Given the description of an element on the screen output the (x, y) to click on. 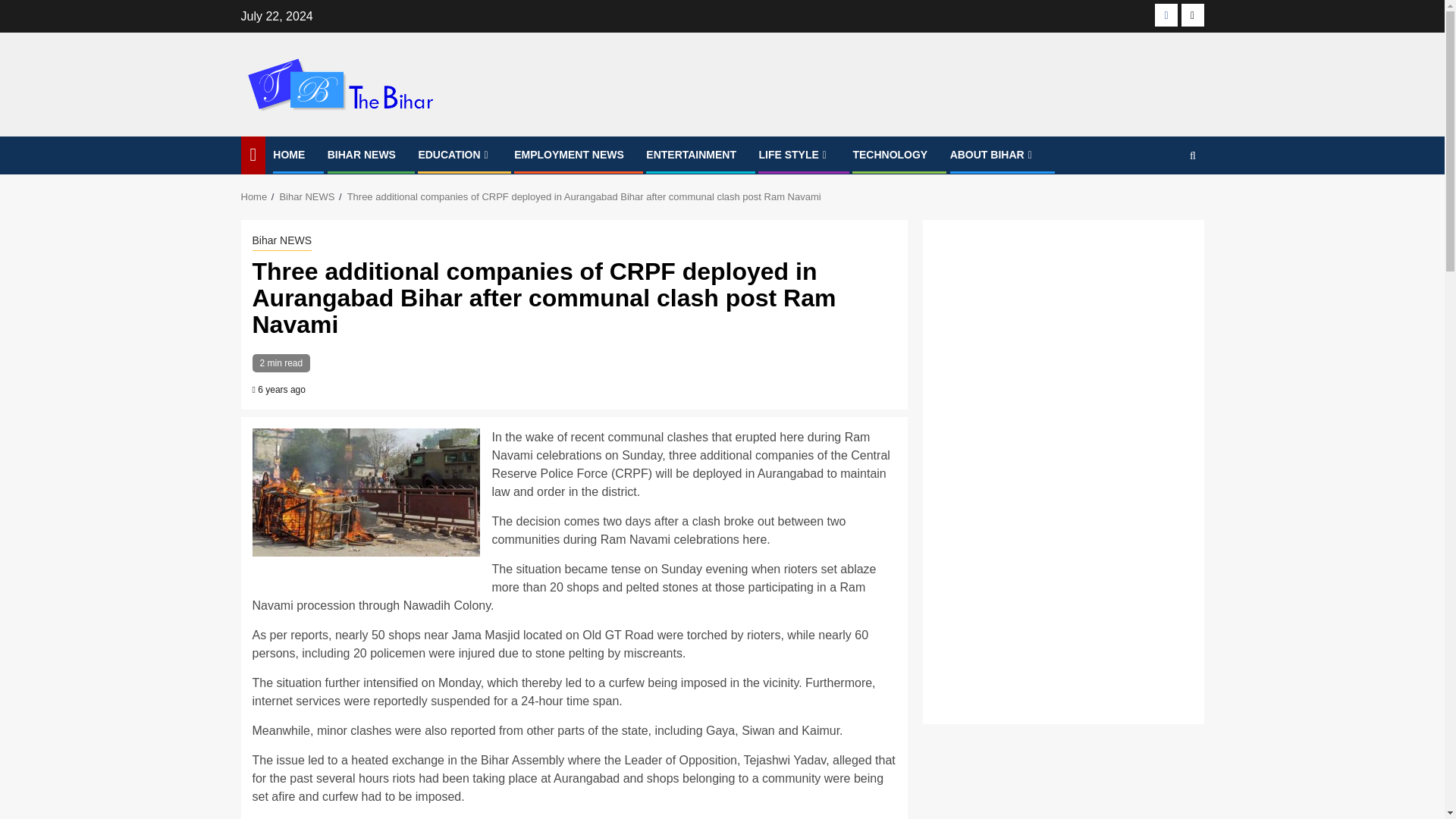
ENTERTAINMENT (691, 154)
EMPLOYMENT NEWS (568, 154)
LIFE STYLE (793, 154)
TECHNOLOGY (889, 154)
HOME (288, 154)
BIHAR NEWS (361, 154)
EDUCATION (454, 154)
Bihar NEWS (306, 196)
Bihar NEWS (281, 240)
Search (1163, 201)
Facebook (1165, 15)
Home (254, 196)
Advertisement (1062, 592)
ABOUT BIHAR (992, 154)
